Given the description of an element on the screen output the (x, y) to click on. 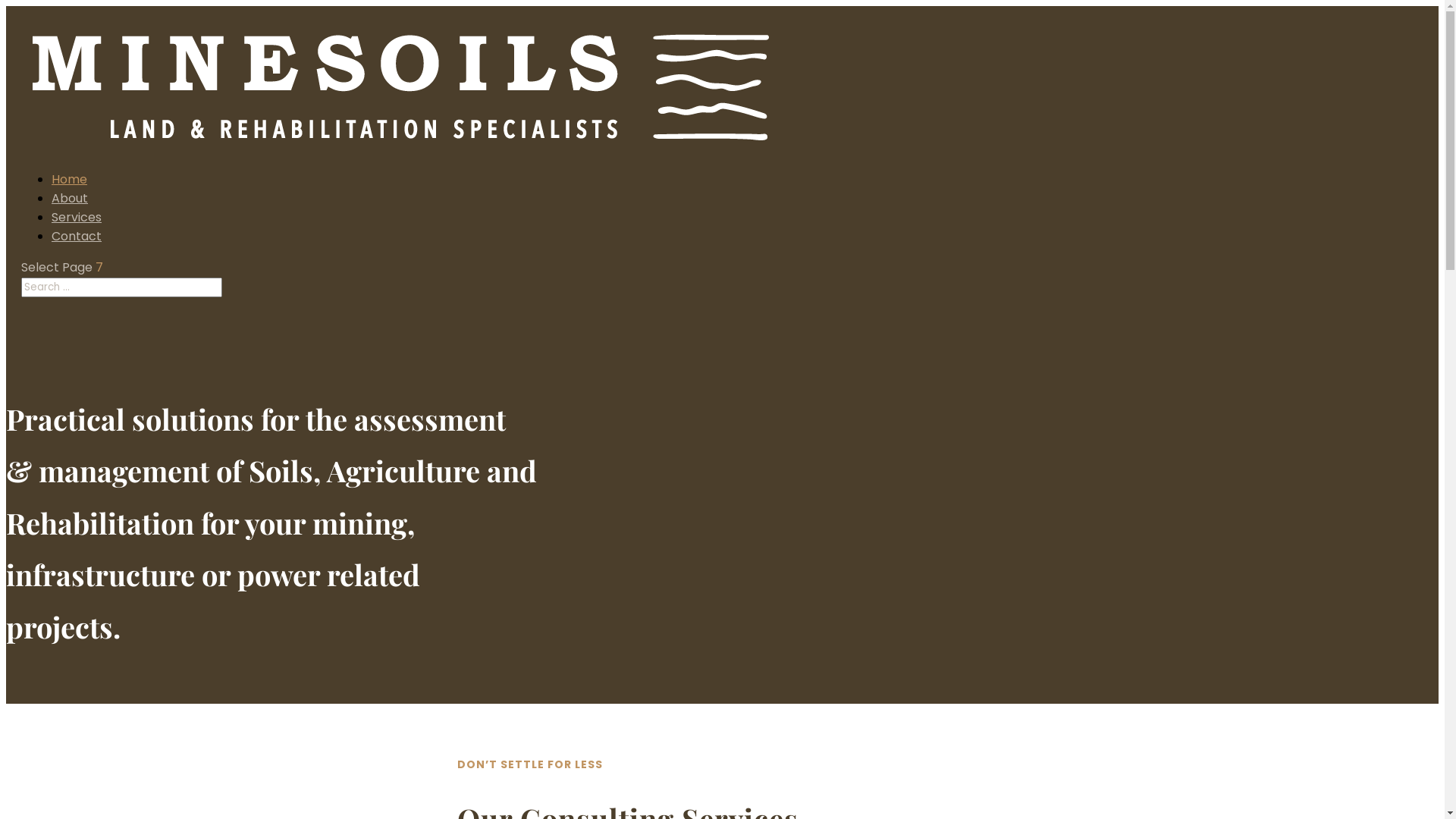
Contact Element type: text (76, 235)
Home Element type: text (69, 179)
About Element type: text (69, 198)
Services Element type: text (76, 216)
Search for: Element type: hover (121, 287)
